Given the description of an element on the screen output the (x, y) to click on. 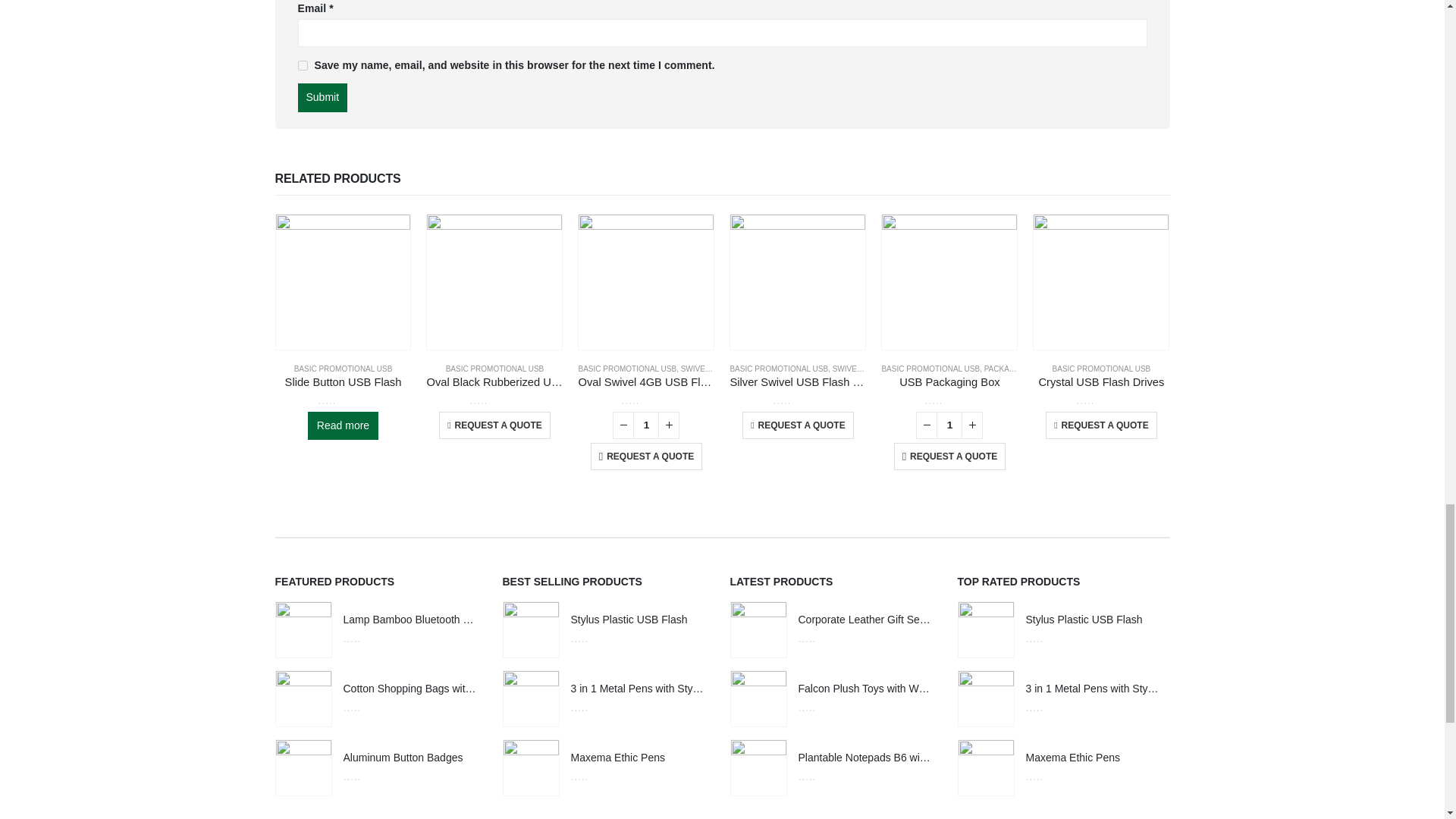
0 (342, 399)
1 (949, 424)
yes (302, 65)
Submit (322, 97)
1 (646, 424)
0 (493, 399)
